Given the description of an element on the screen output the (x, y) to click on. 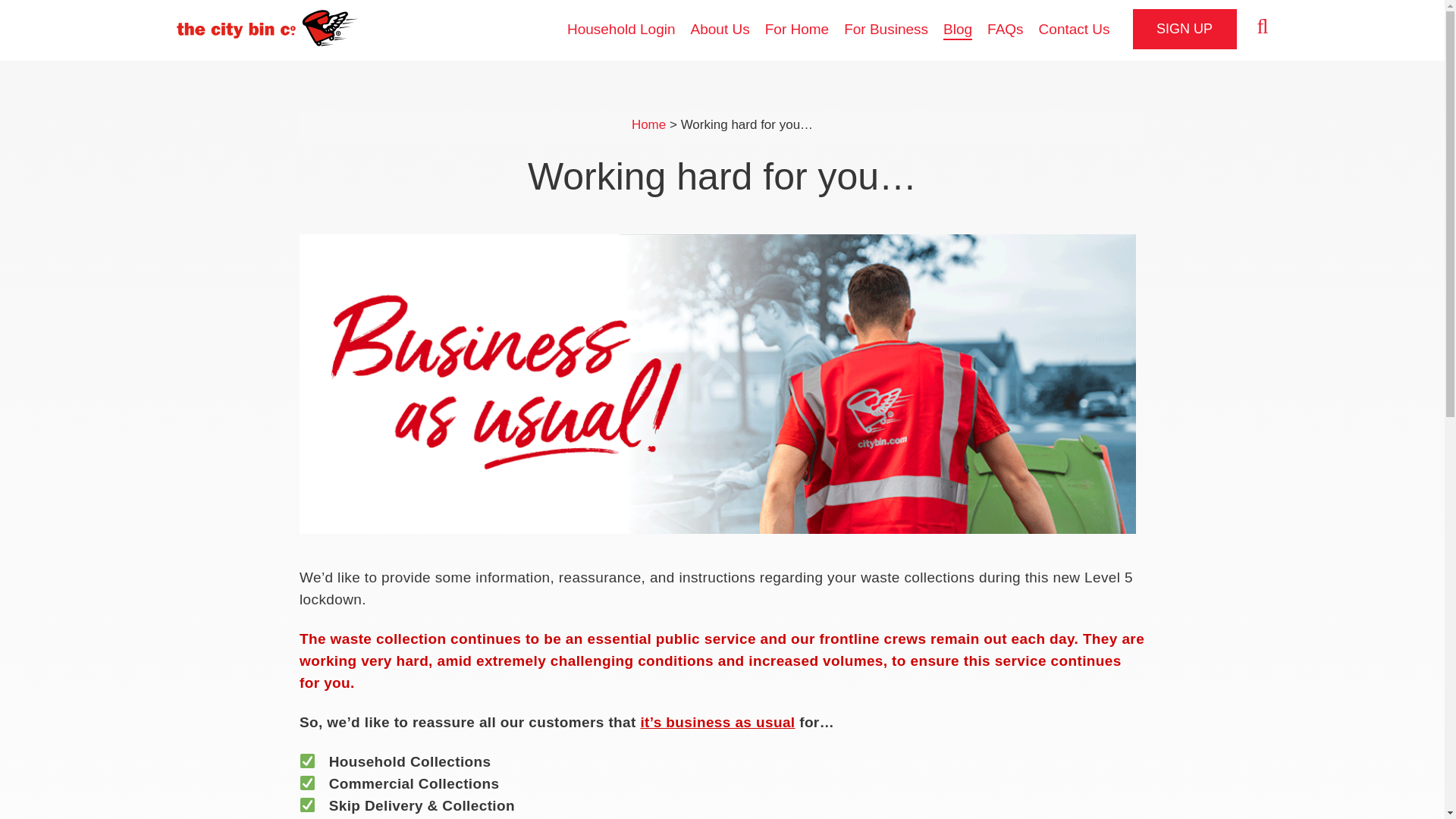
For Business (886, 30)
Household Login (621, 30)
FAQs (1005, 30)
Home (648, 124)
About Us (719, 30)
Blog (957, 31)
For Home (796, 30)
Contact Us (1074, 30)
SIGN UP (1184, 29)
